Given the description of an element on the screen output the (x, y) to click on. 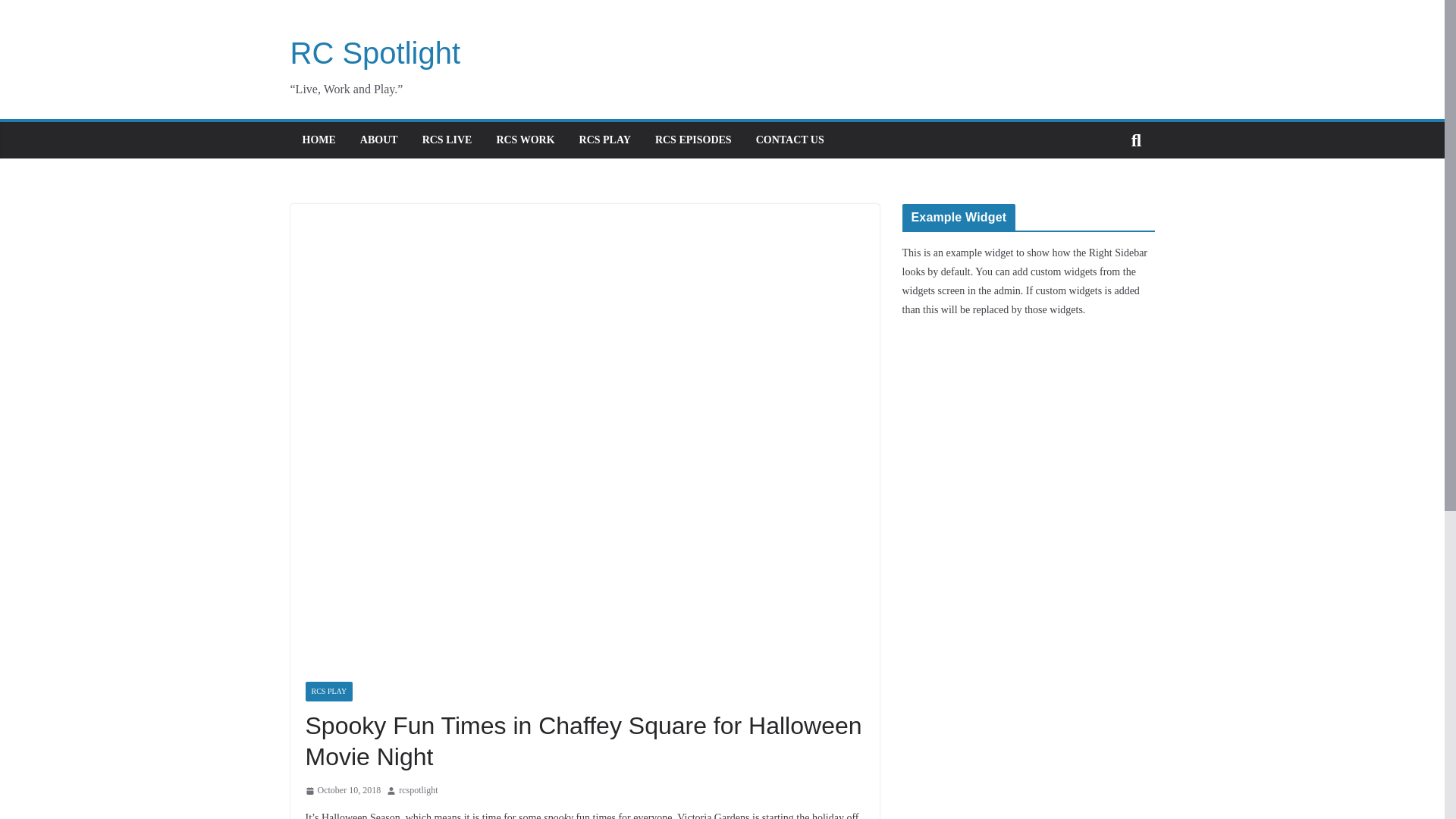
rcspotlight (418, 790)
RCS PLAY (328, 691)
RCS LIVE (446, 139)
RCS WORK (525, 139)
RCS EPISODES (693, 139)
ABOUT (378, 139)
rcspotlight (418, 790)
RC Spotlight (374, 52)
RCS PLAY (604, 139)
RC Spotlight (374, 52)
